Given the description of an element on the screen output the (x, y) to click on. 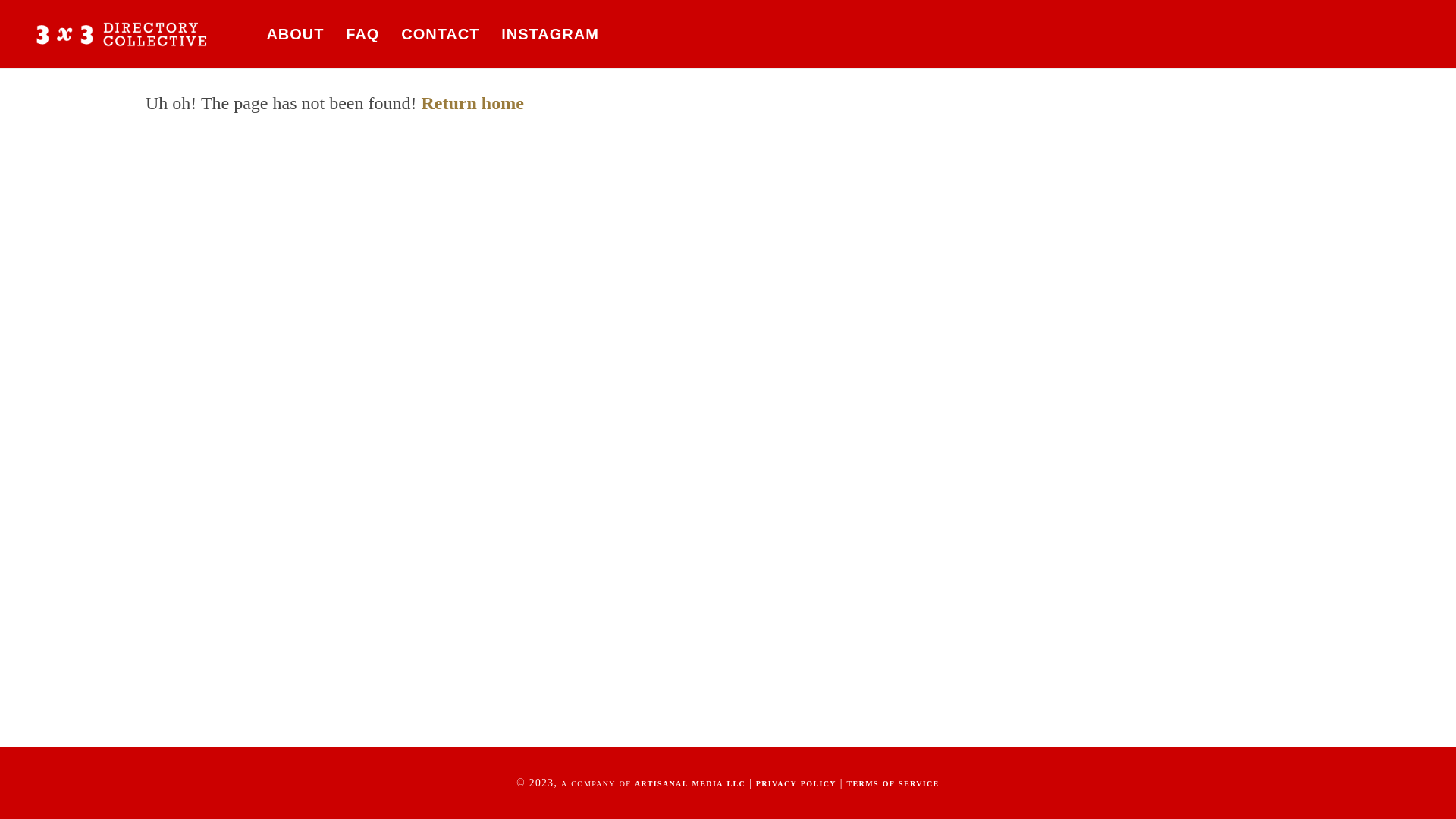
terms of service Element type: text (893, 782)
FAQ Element type: text (362, 33)
privacy policy Element type: text (796, 782)
ABOUT Element type: text (295, 33)
INSTAGRAM Element type: text (549, 33)
CONTACT Element type: text (440, 33)
artisanal media llc Element type: text (689, 782)
Return home Element type: text (471, 102)
